Given the description of an element on the screen output the (x, y) to click on. 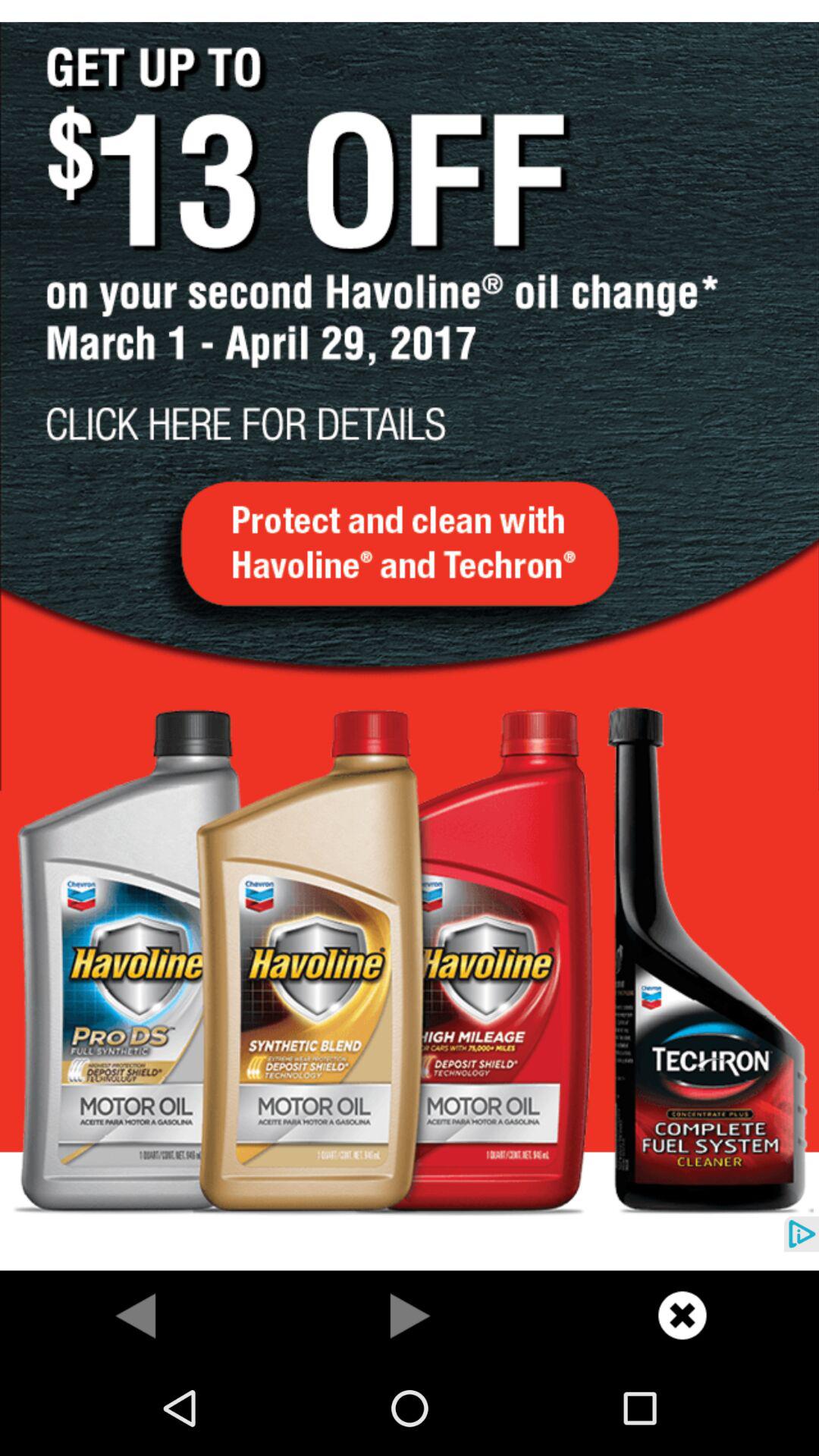
go to play (409, 1315)
